Given the description of an element on the screen output the (x, y) to click on. 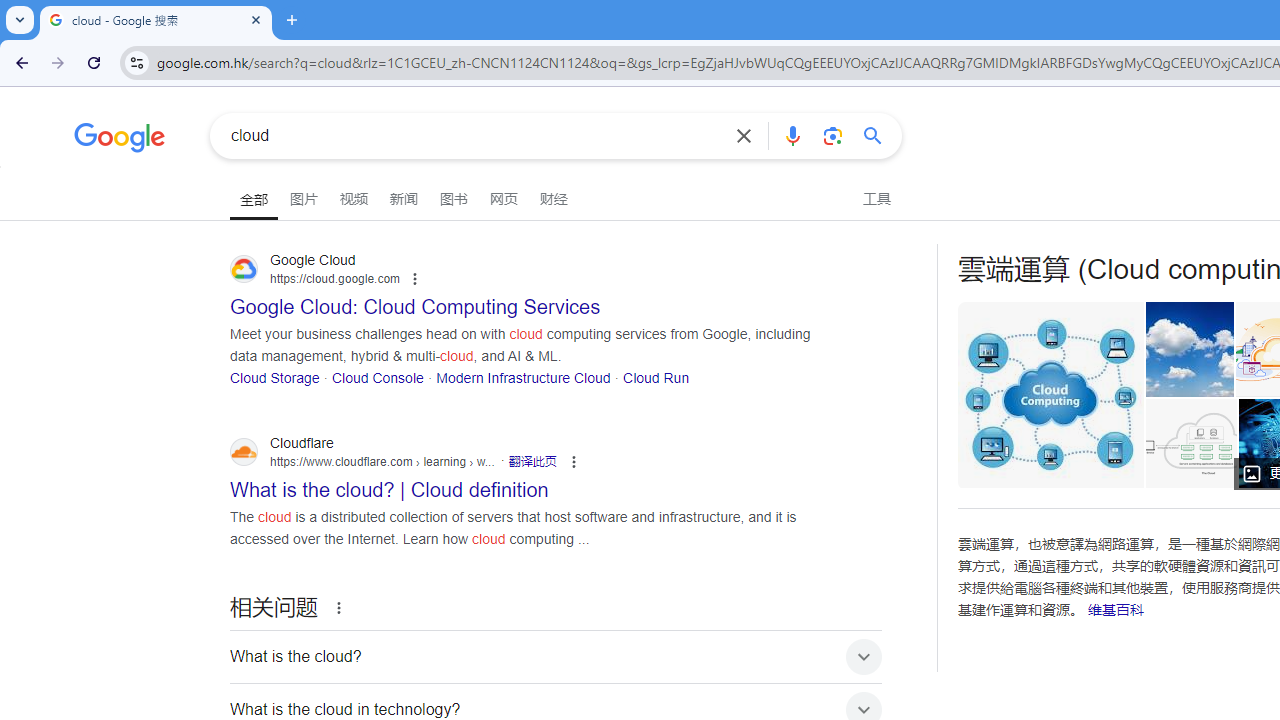
Google (120, 139)
What is the cloud? | Cloud definition | Cloudflare (1190, 443)
